Given the description of an element on the screen output the (x, y) to click on. 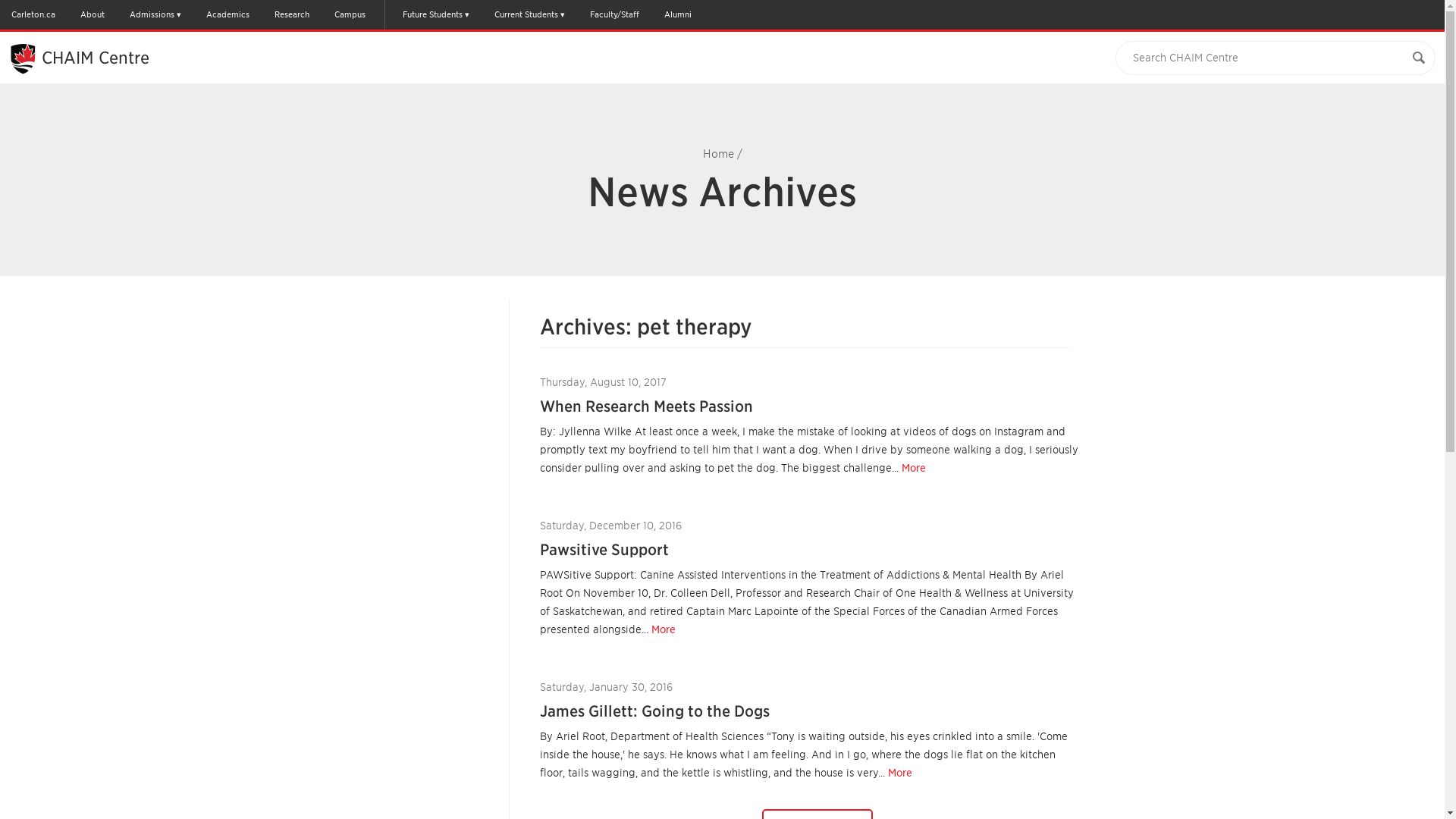
Alumni (677, 14)
Visit Site Homepage (95, 57)
Admissions (155, 14)
Home (717, 153)
Research (291, 14)
Academics (227, 14)
About (92, 14)
Current Students (529, 14)
Campus (349, 14)
